Given the description of an element on the screen output the (x, y) to click on. 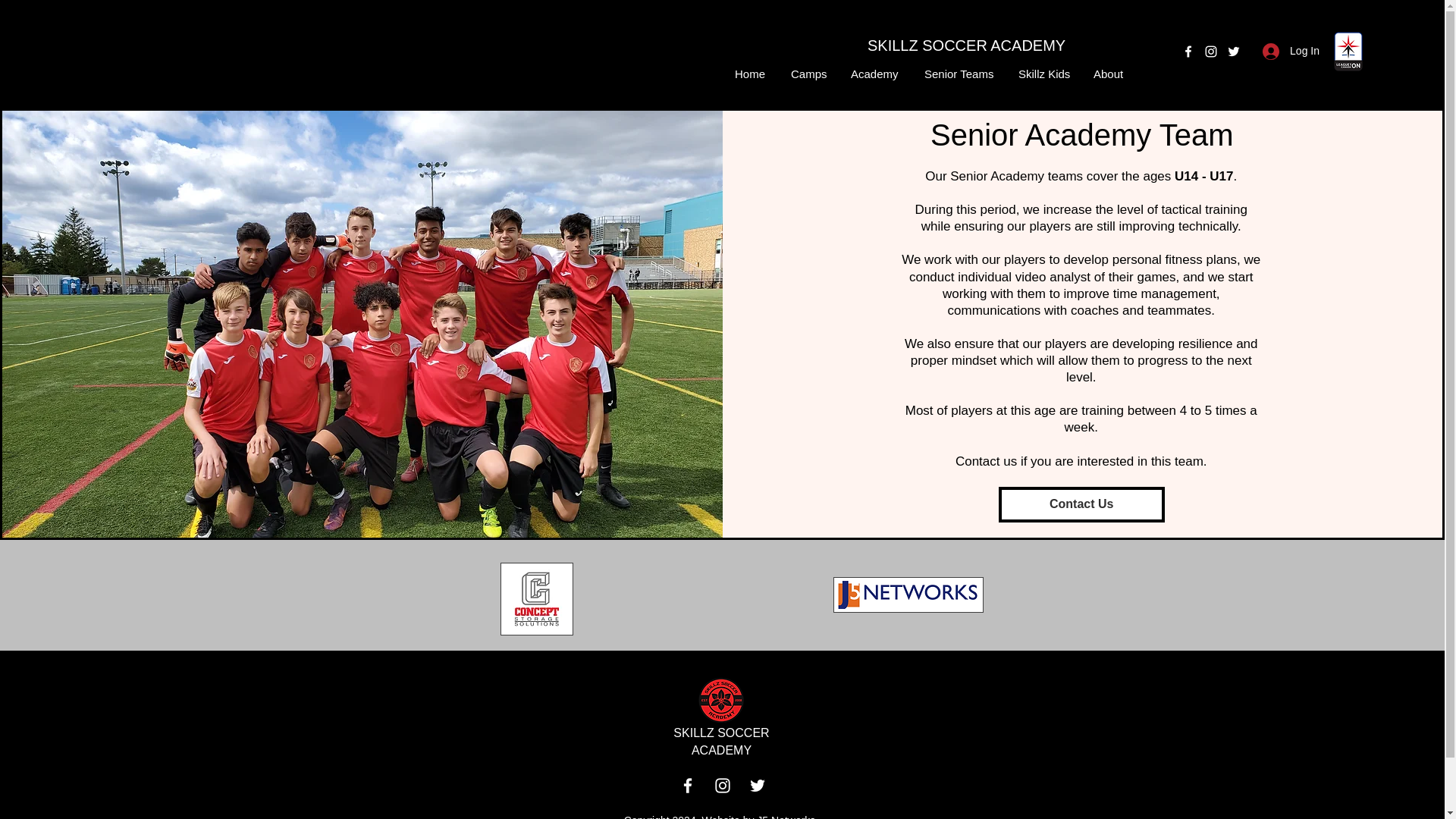
png file-03.png (721, 700)
Log In (1291, 50)
Home (750, 73)
Skillz Kids (1043, 73)
About (1109, 73)
Contact Us (1081, 504)
SKILLZ SOCCER ACADEMY (720, 741)
SKILLZ SOCCER ACADEMY (966, 45)
J5 Networks. (787, 816)
